Given the description of an element on the screen output the (x, y) to click on. 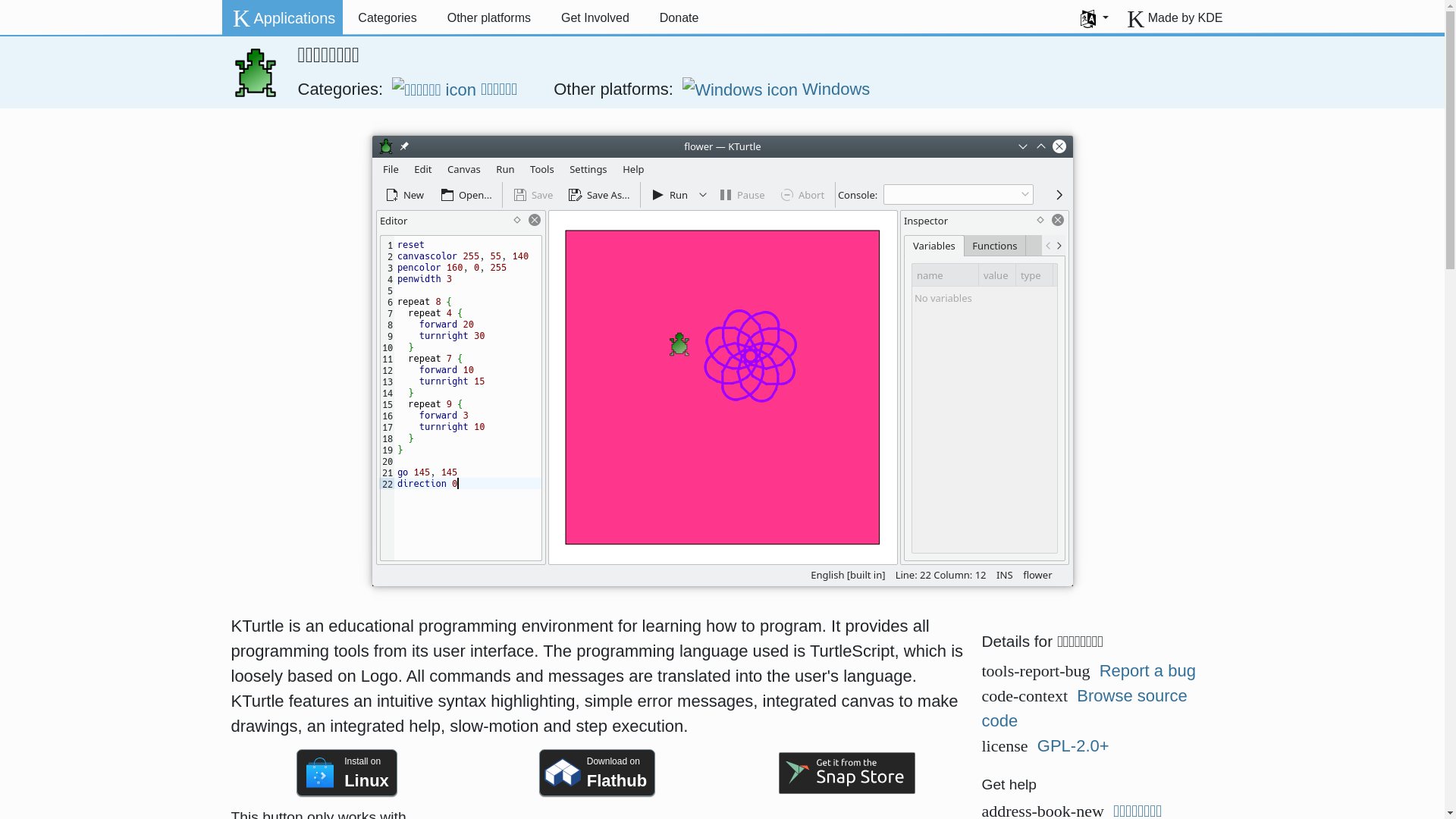
Donate (679, 18)
Categories (281, 18)
Get Involved (386, 18)
Other platforms (595, 18)
